Given the description of an element on the screen output the (x, y) to click on. 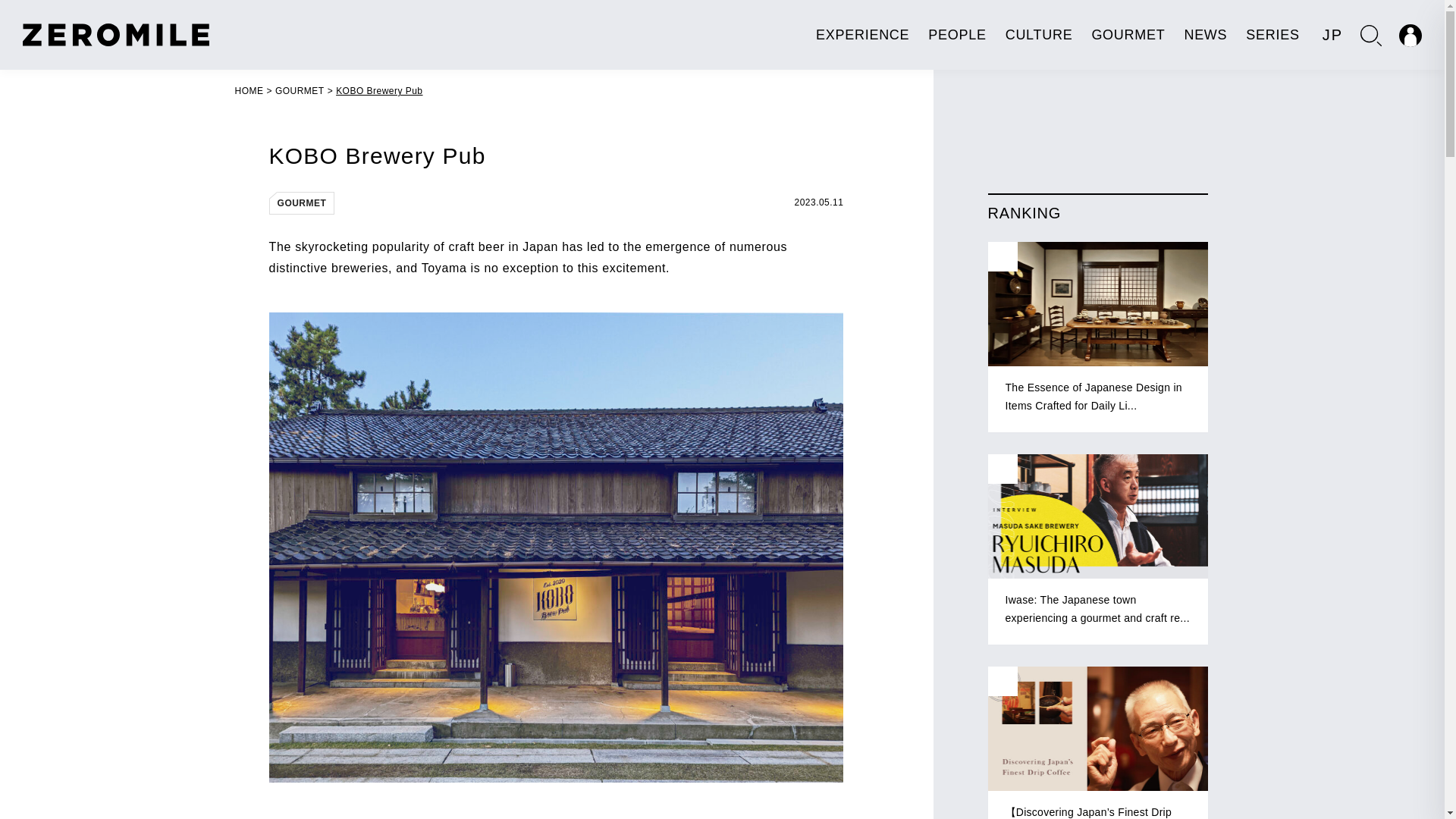
SERIES (1272, 34)
EXPERIENCE (861, 34)
JP (1332, 34)
HOME (248, 90)
CULTURE (1039, 34)
GOURMET (301, 202)
PEOPLE (956, 34)
NEWS (1205, 34)
GOURMET (299, 90)
GOURMET (1127, 34)
